Given the description of an element on the screen output the (x, y) to click on. 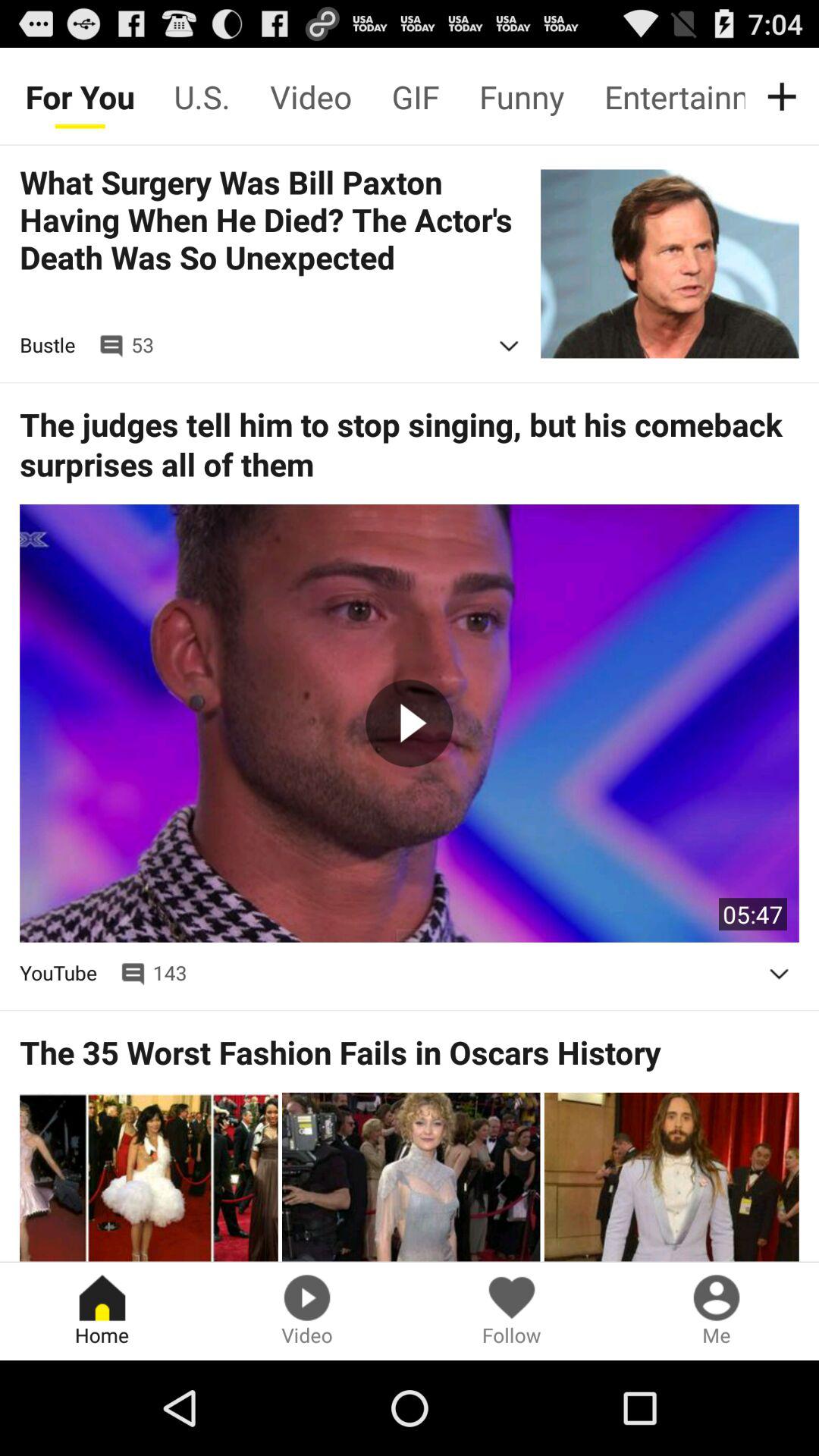
press for info (508, 346)
